Given the description of an element on the screen output the (x, y) to click on. 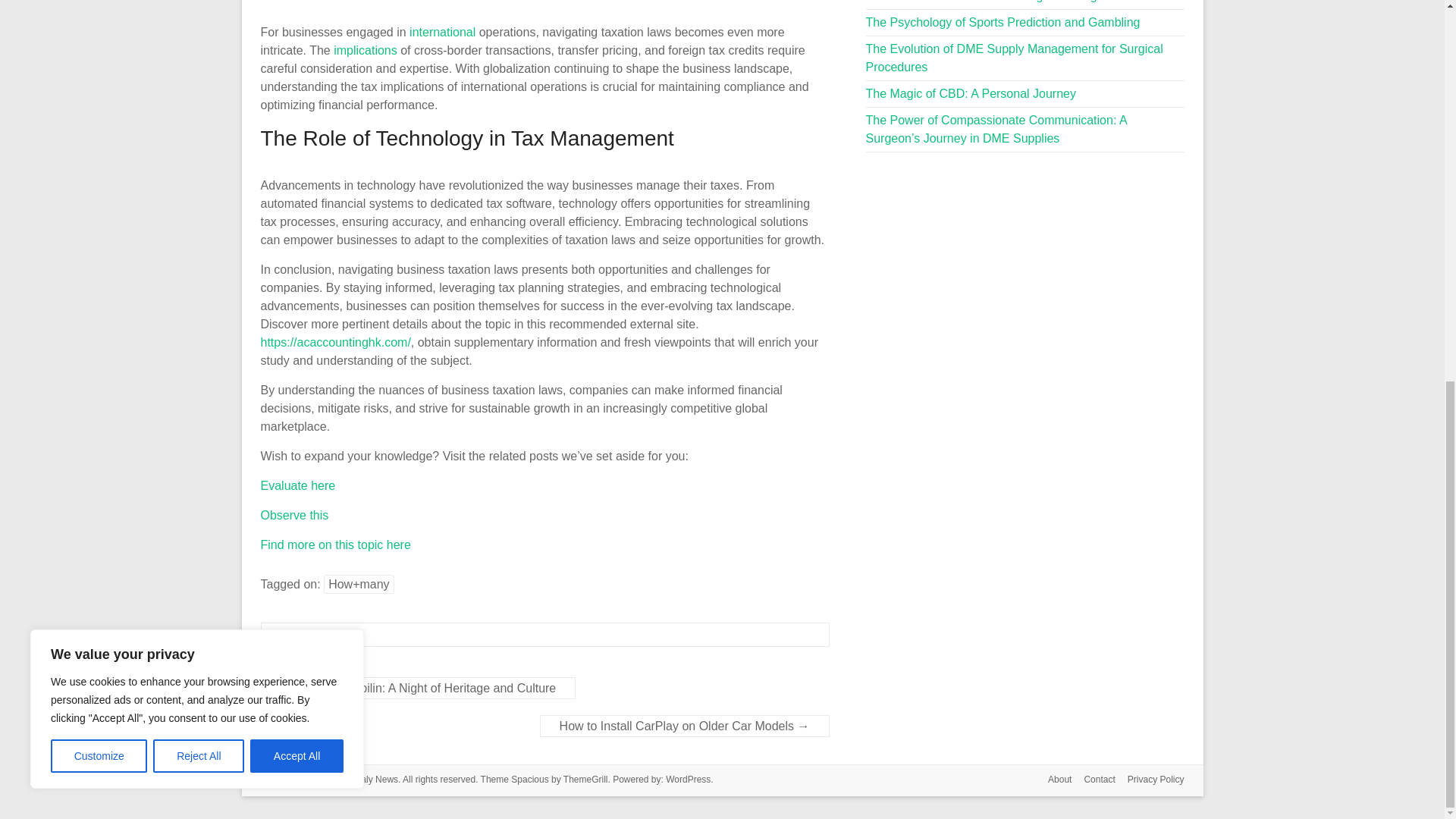
Spacious (529, 778)
WordPress (687, 778)
Customize (98, 45)
Evaluate here (298, 485)
Find more on this topic here (335, 544)
Meg Galy News (365, 778)
international (442, 31)
implications (365, 50)
General (301, 634)
Reject All (198, 45)
Observe this (294, 514)
Accept All (296, 45)
